Given the description of an element on the screen output the (x, y) to click on. 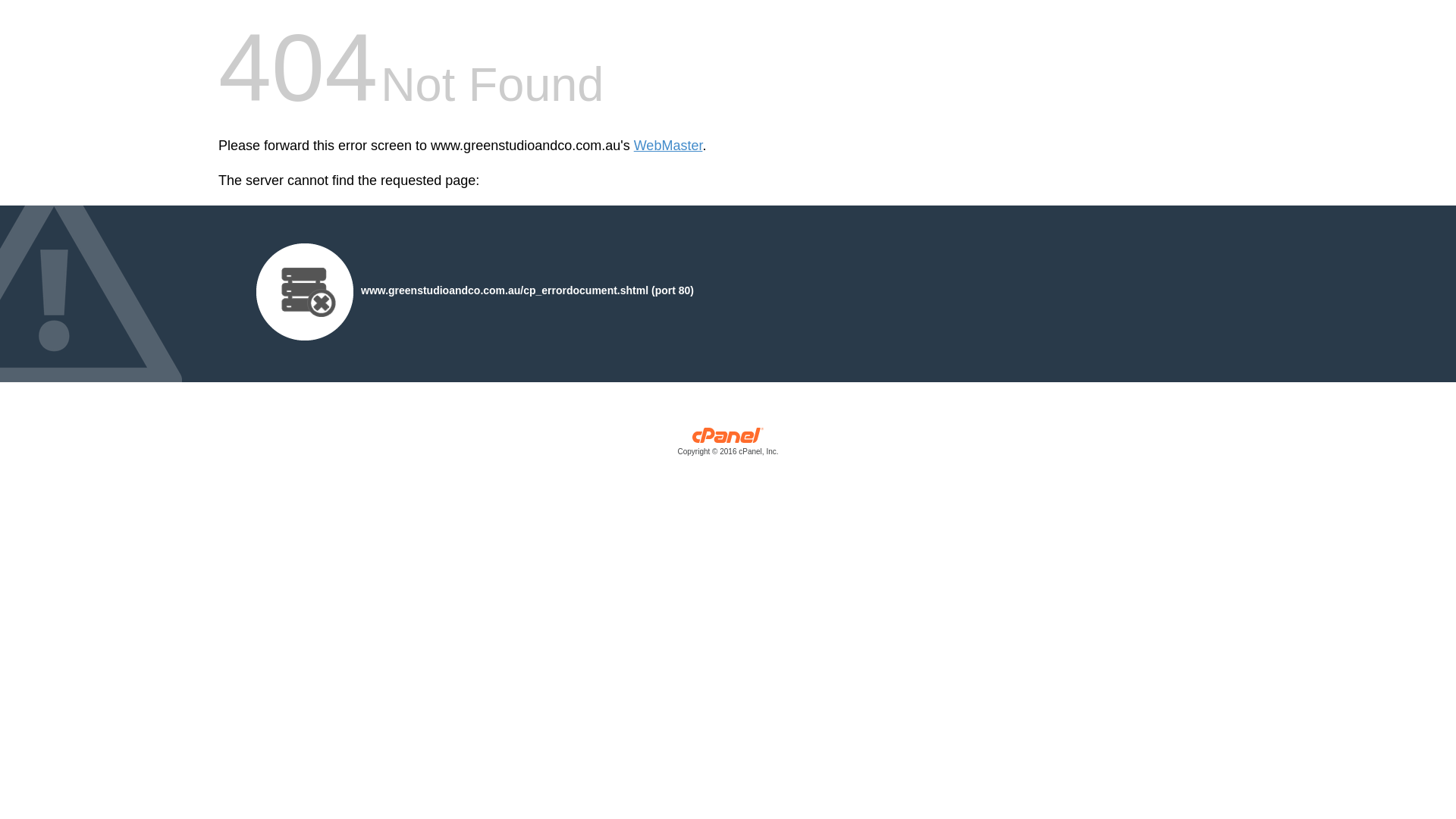
WebMaster Element type: text (667, 145)
